Given the description of an element on the screen output the (x, y) to click on. 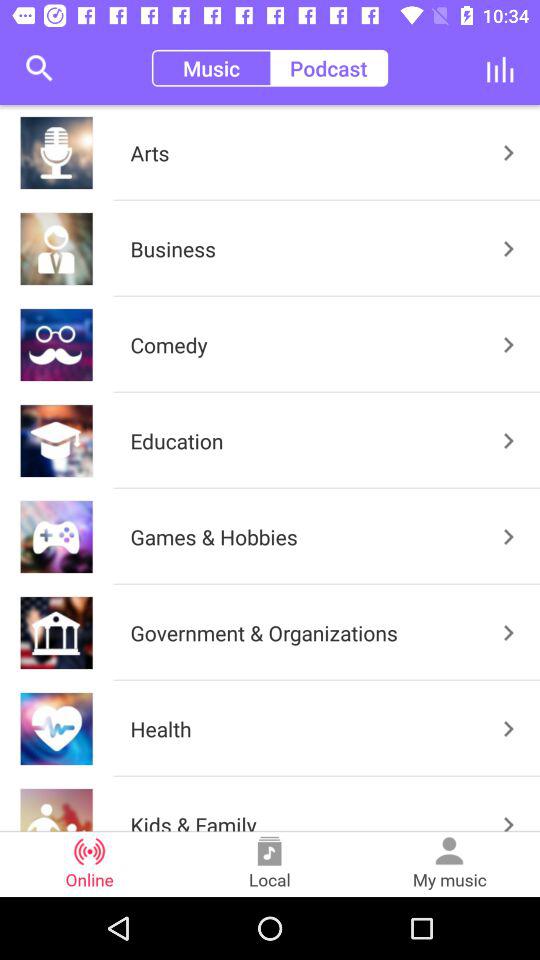
scroll until online item (90, 863)
